Given the description of an element on the screen output the (x, y) to click on. 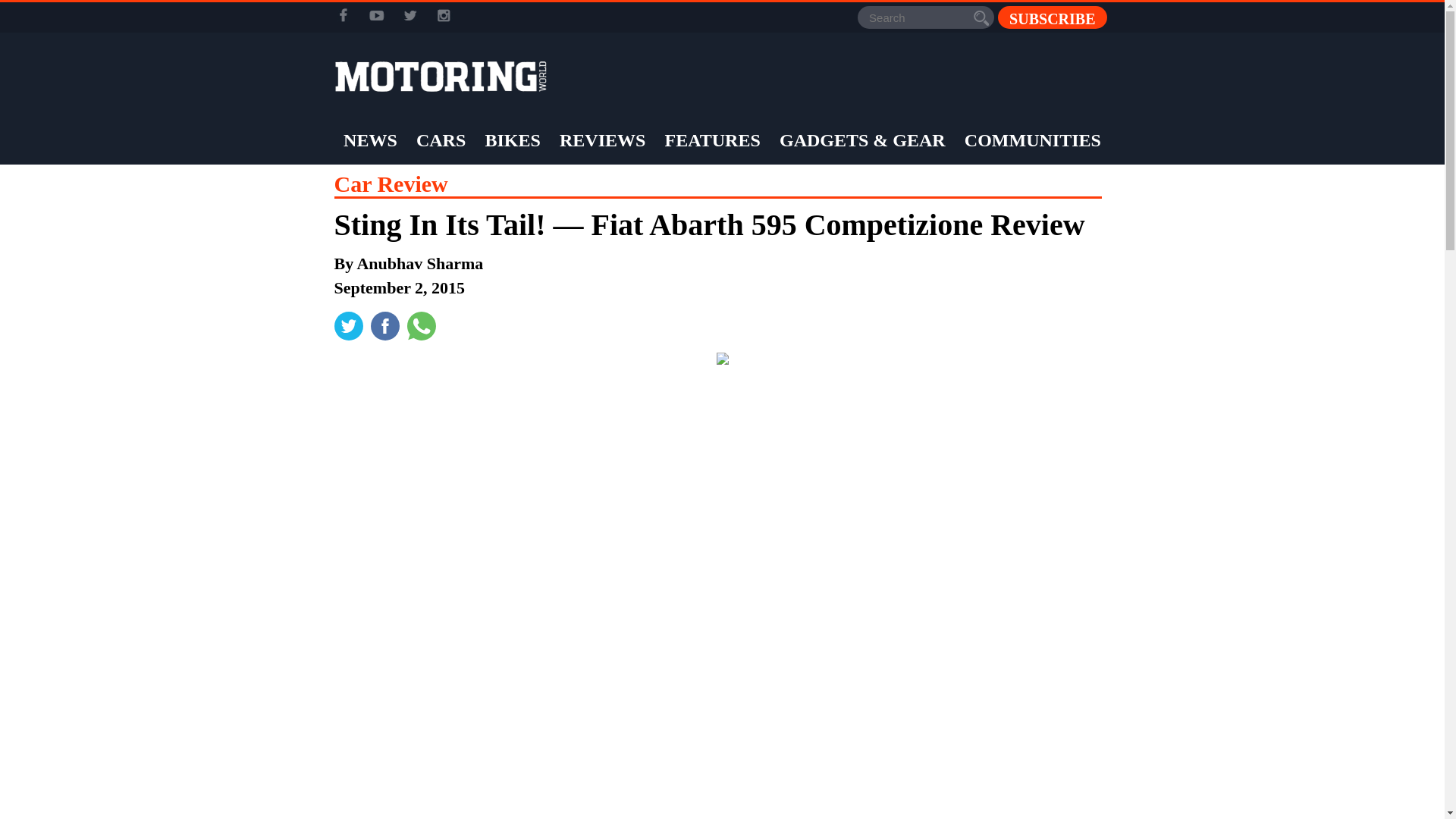
REVIEWS (602, 140)
NEWS (370, 140)
SUBSCRIBE (1051, 16)
Posts by Anubhav Sharma (419, 262)
COMMUNITIES (1032, 140)
BIKES (511, 140)
FEATURES (712, 140)
Car Review (389, 183)
Anubhav Sharma (419, 262)
CARS (440, 140)
